Given the description of an element on the screen output the (x, y) to click on. 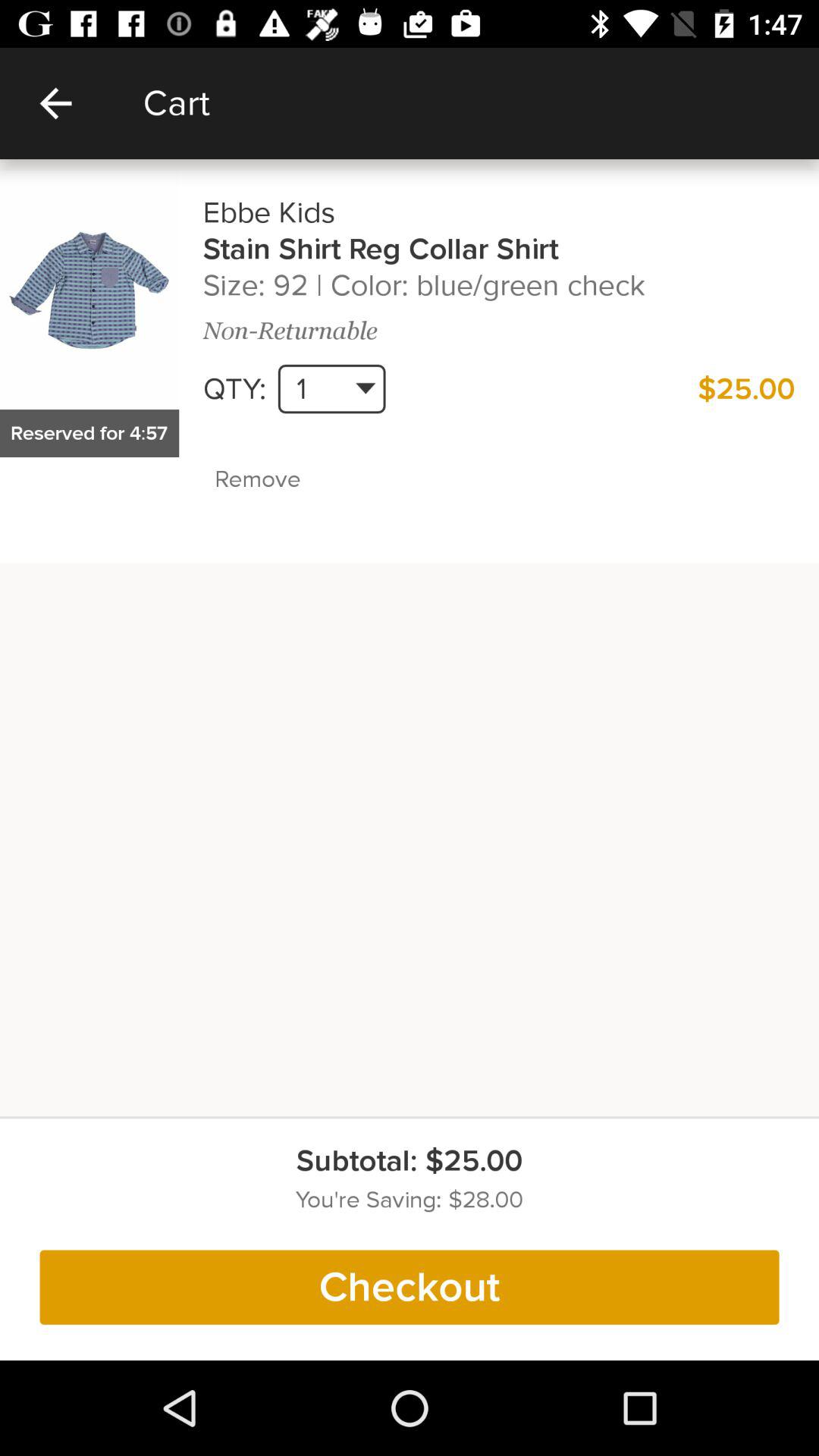
press checkout item (409, 1287)
